Given the description of an element on the screen output the (x, y) to click on. 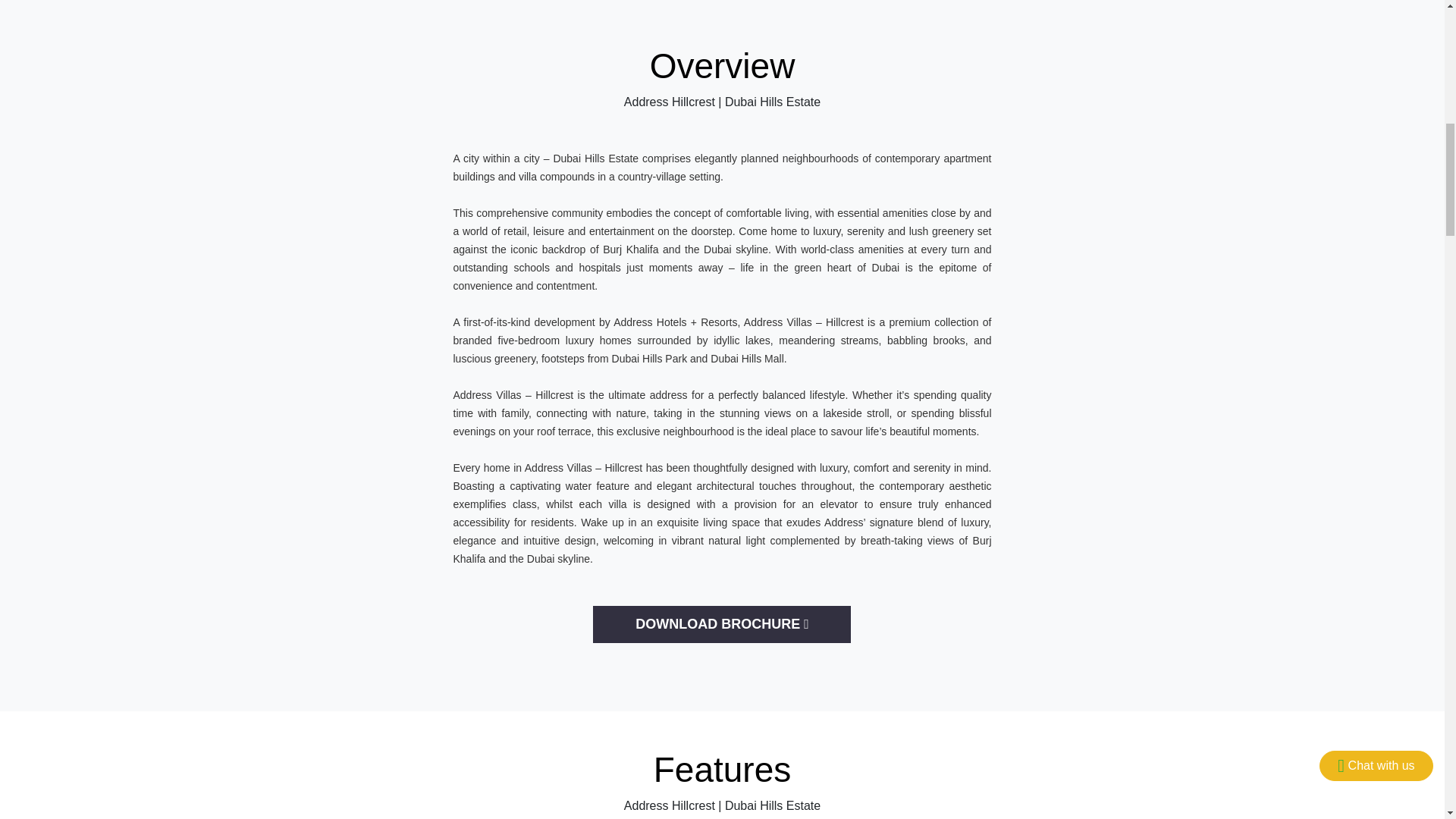
DOWNLOAD BROCHURE (721, 624)
